Given the description of an element on the screen output the (x, y) to click on. 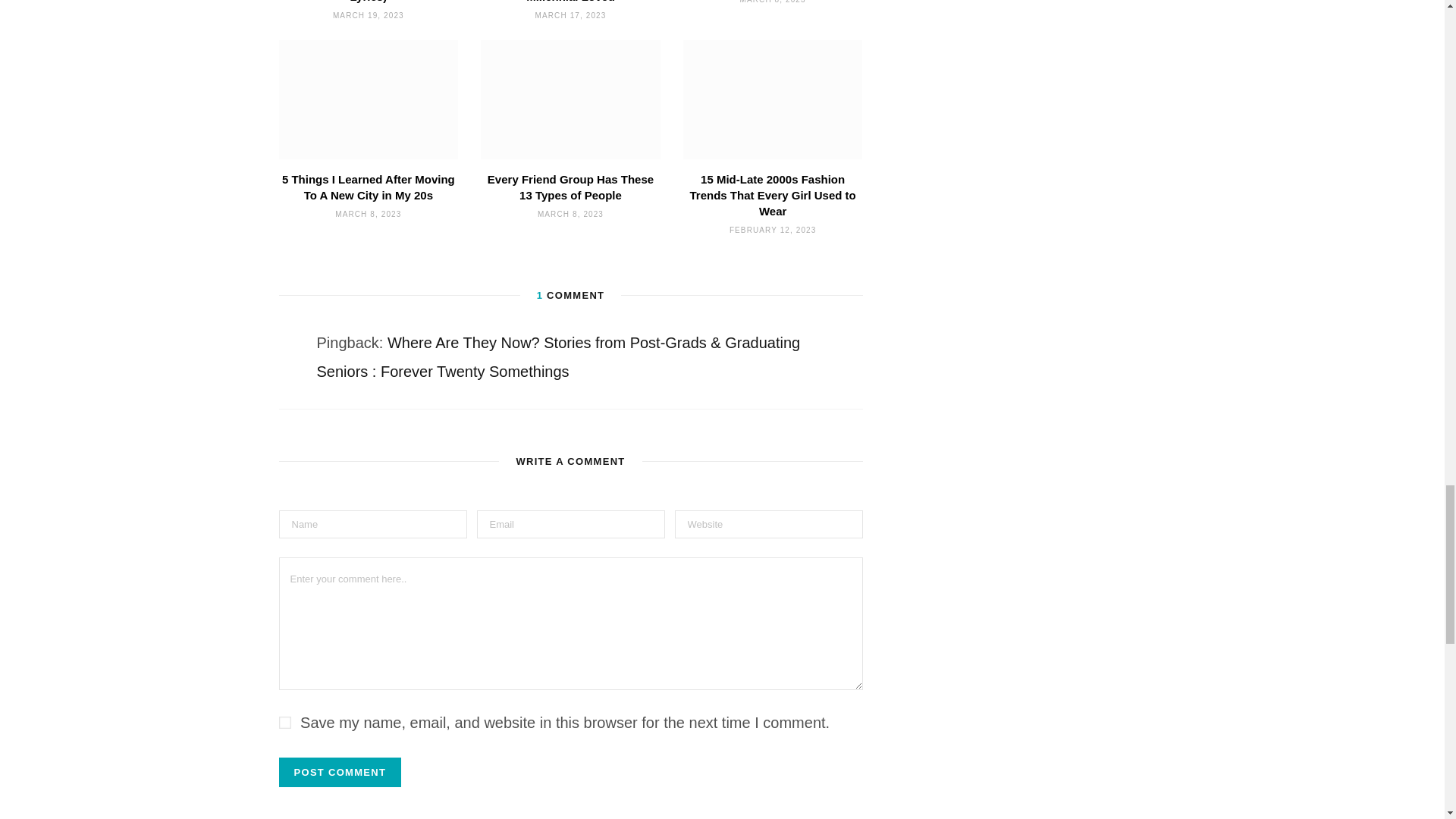
MARCH 17, 2023 (571, 15)
MARCH 8, 2023 (570, 213)
Every Friend Group Has These 13 Types of People (570, 186)
yes (285, 722)
MARCH 8, 2023 (367, 213)
MARCH 8, 2023 (772, 2)
MARCH 19, 2023 (368, 15)
5 Things I Learned After Moving To A New City in My 20s (368, 186)
Every Friend Group Has These 13 Types of People (570, 99)
5 Things I Learned After Moving To A New City in My 20s (368, 99)
Post Comment (340, 772)
